Given the description of an element on the screen output the (x, y) to click on. 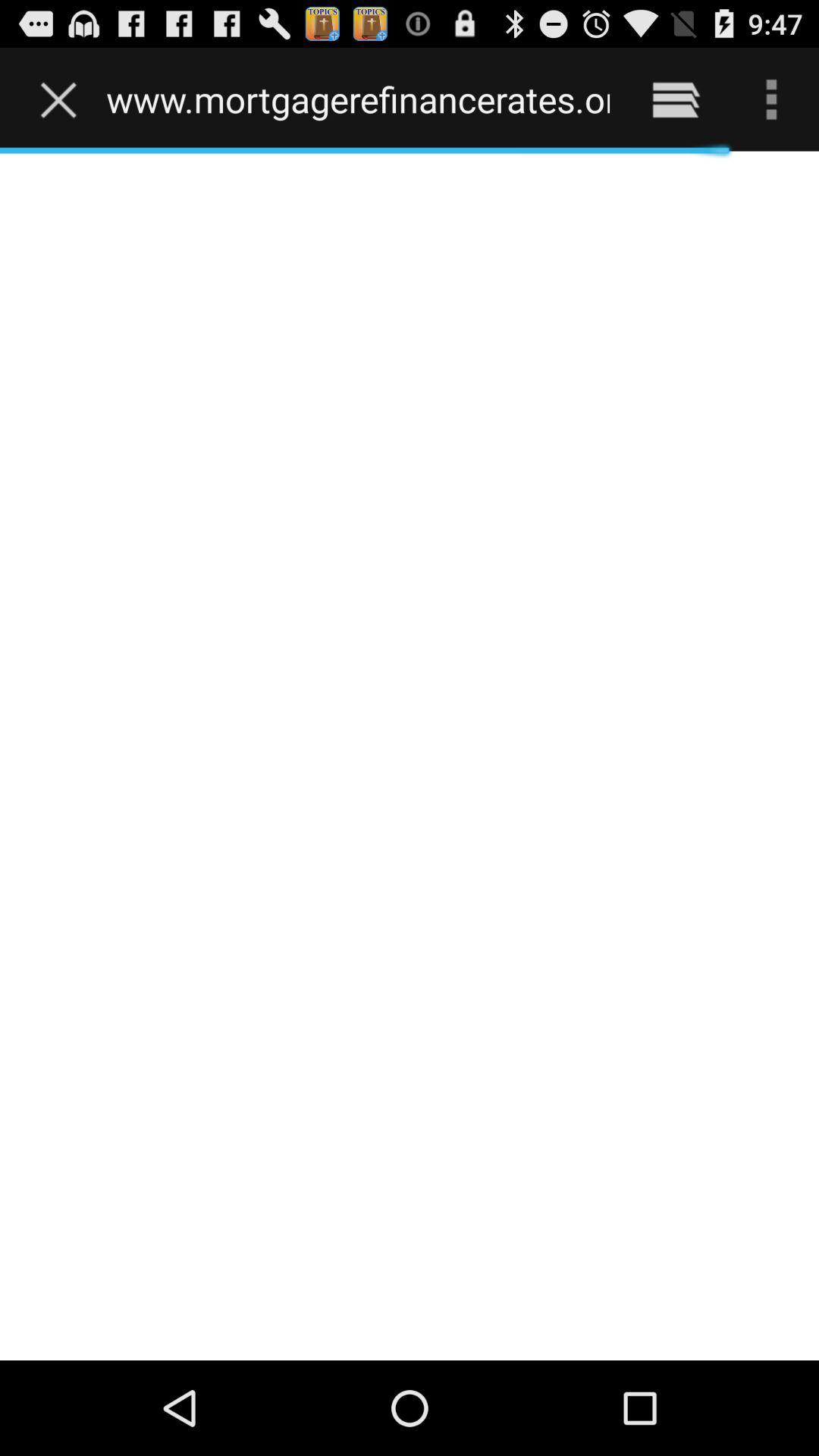
turn off the item at the top (357, 99)
